Given the description of an element on the screen output the (x, y) to click on. 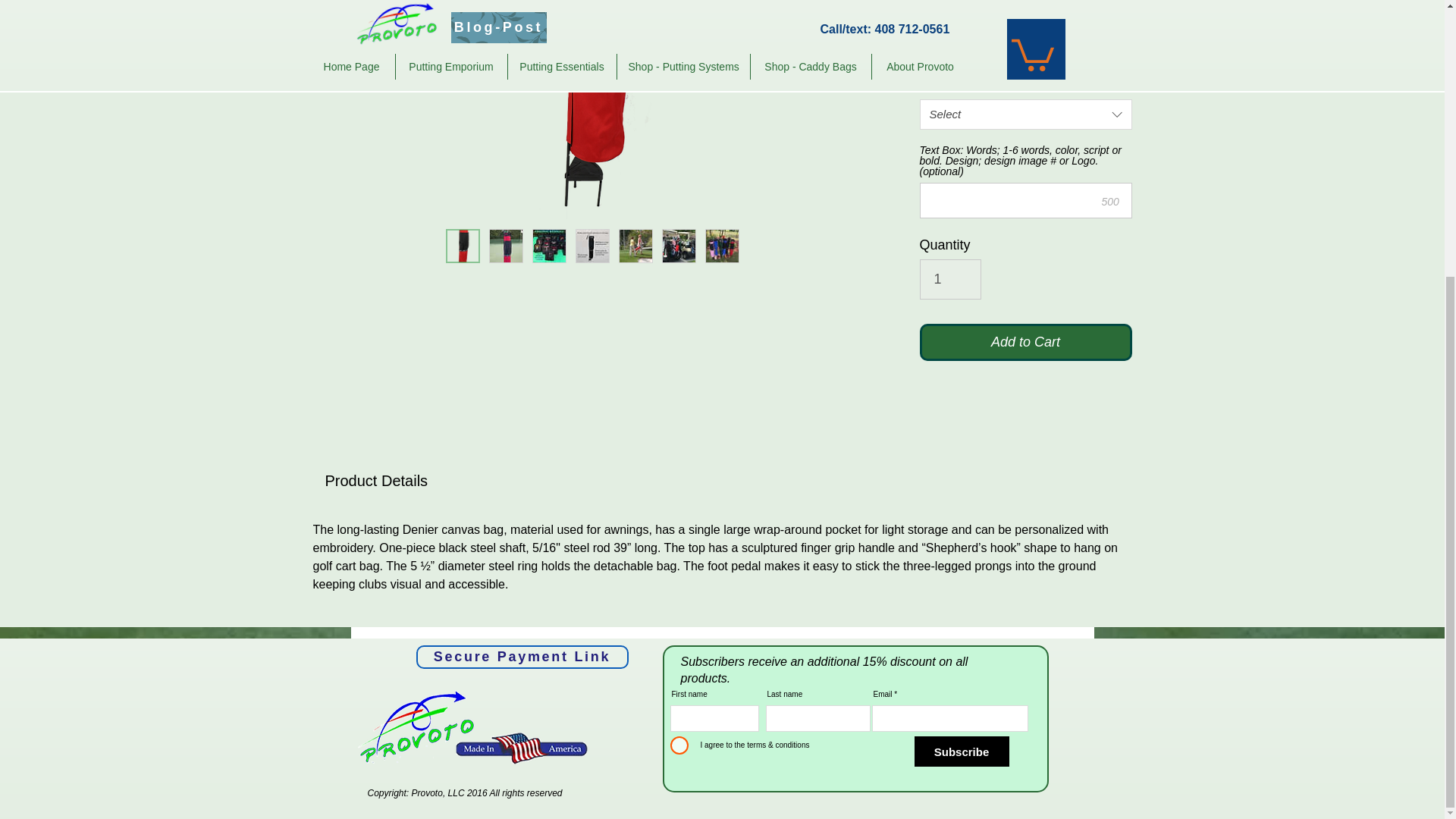
Use right and left arrows to navigate between tabs (376, 481)
1 (949, 278)
